Given the description of an element on the screen output the (x, y) to click on. 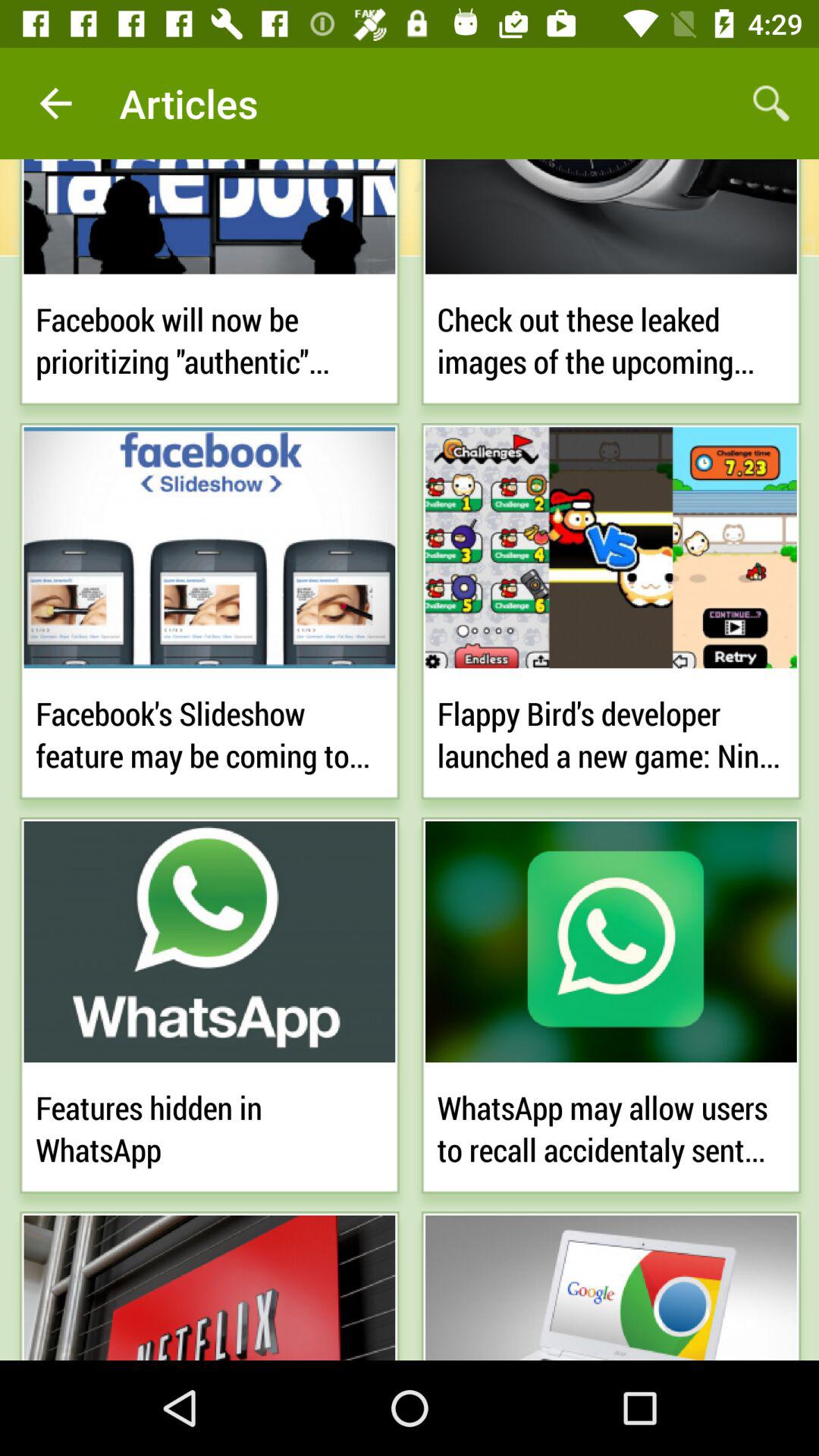
press item to the left of articles app (55, 103)
